Given the description of an element on the screen output the (x, y) to click on. 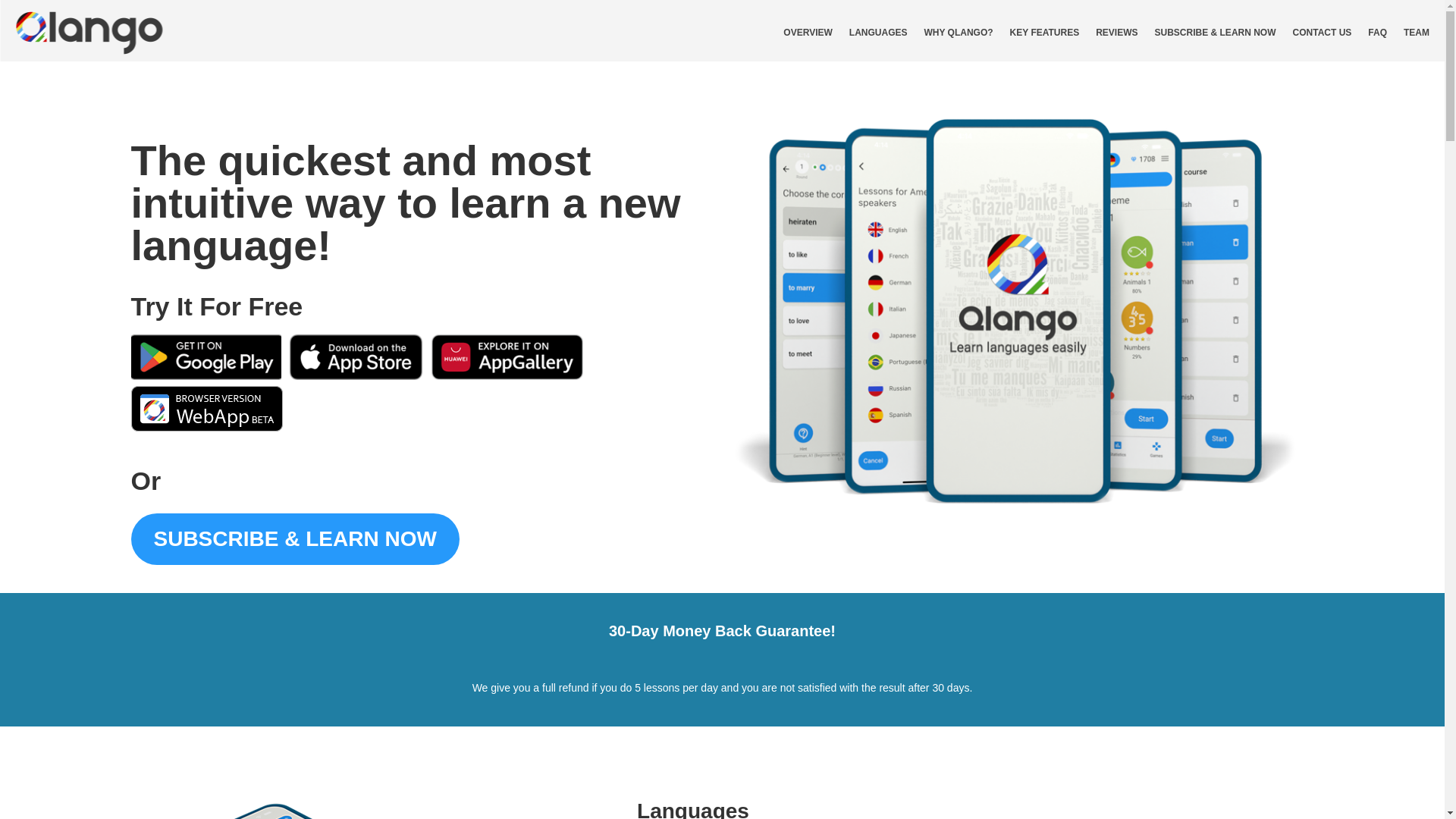
CONTACT US (1322, 32)
GooglePlay (206, 376)
Huawei AppGallery (506, 376)
LANGUAGES (877, 32)
AppStore (355, 376)
WHY QLANGO? (957, 32)
Qlango WebApp Beta (206, 427)
KEY FEATURES (1045, 32)
